Given the description of an element on the screen output the (x, y) to click on. 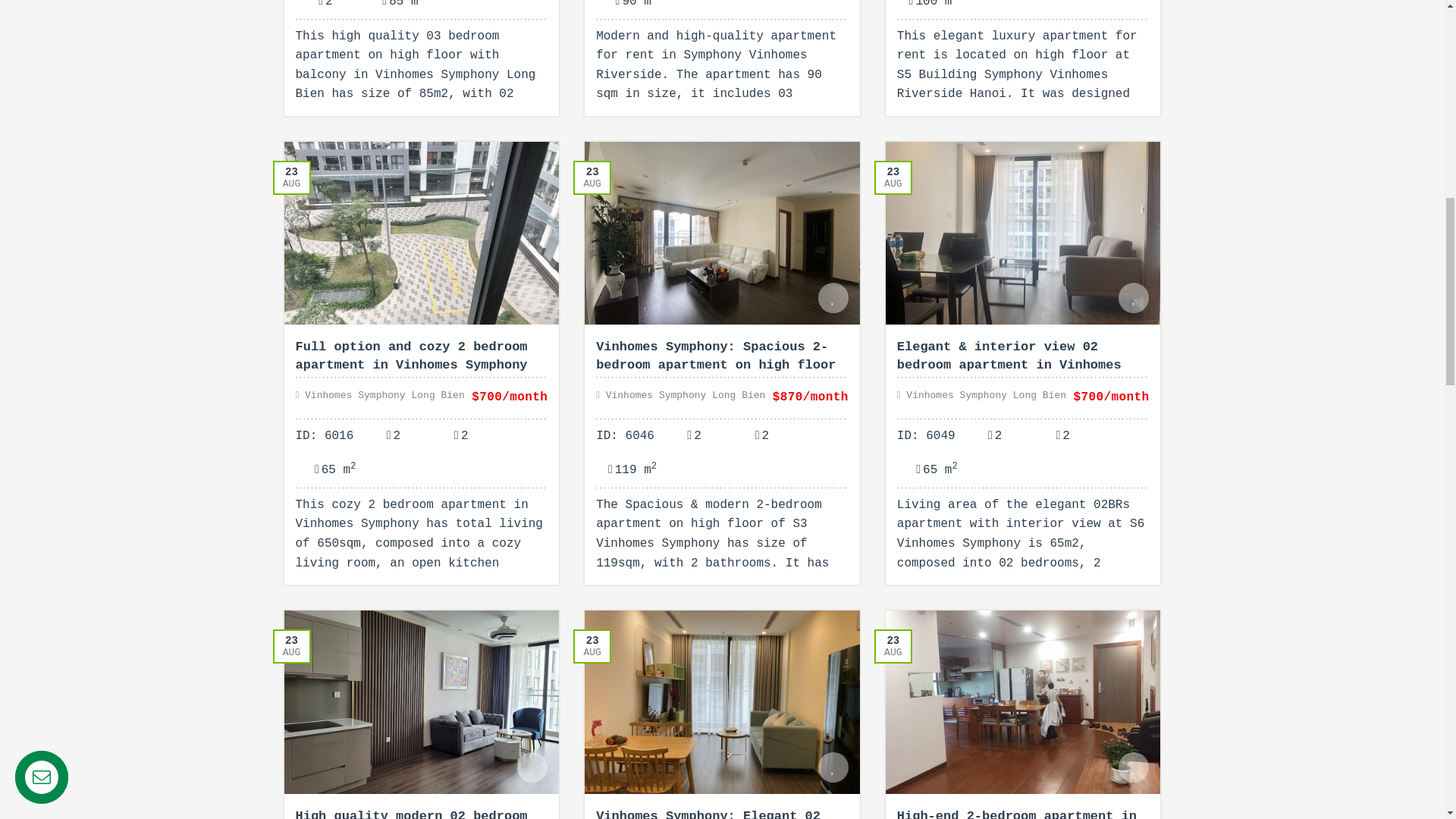
Living Area (625, 9)
Shower (325, 9)
Living Area (392, 9)
